Given the description of an element on the screen output the (x, y) to click on. 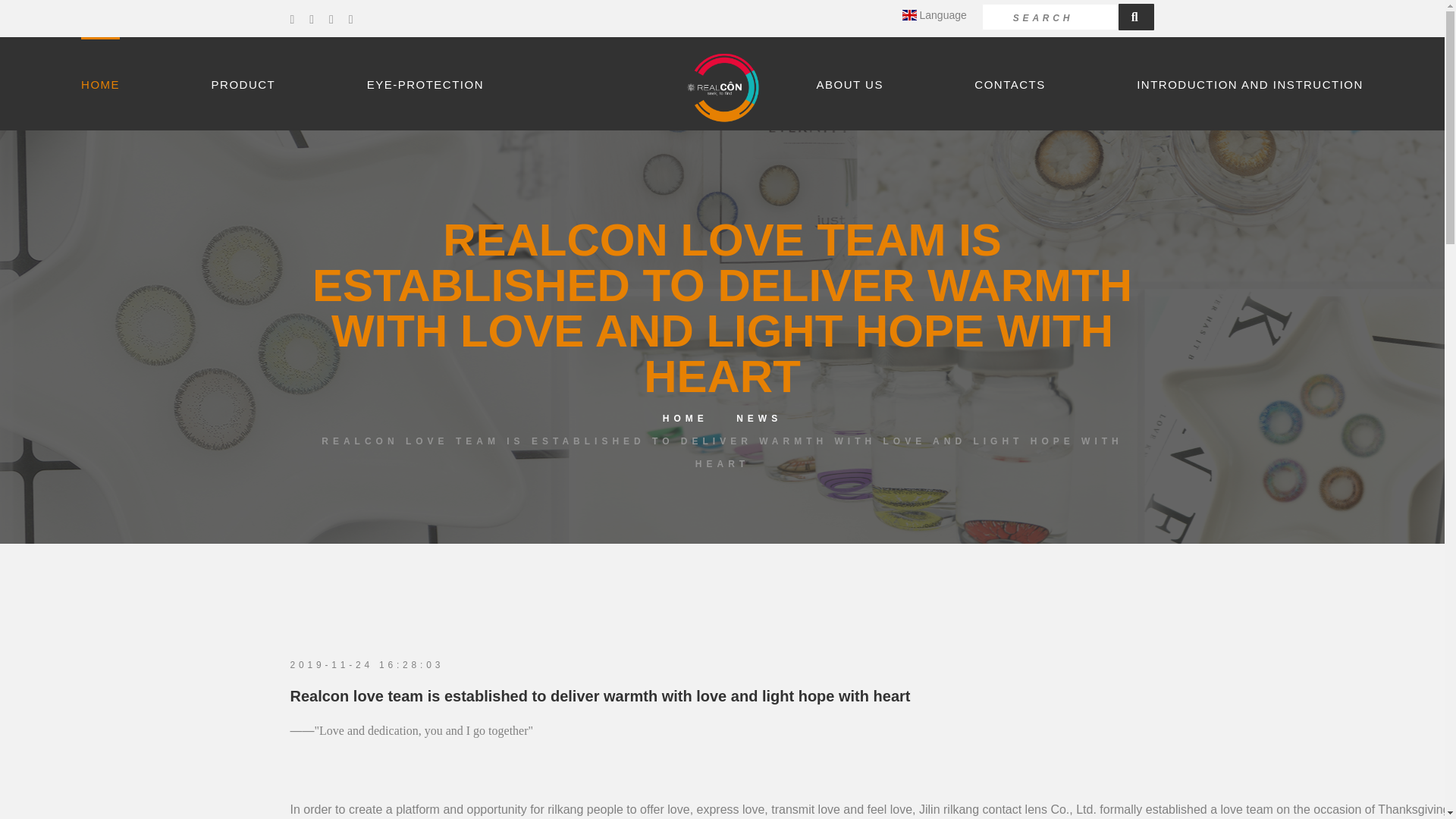
INTRODUCTION AND INSTRUCTION (1249, 83)
Search (1136, 17)
EYE-PROTECTION (424, 83)
